Given the description of an element on the screen output the (x, y) to click on. 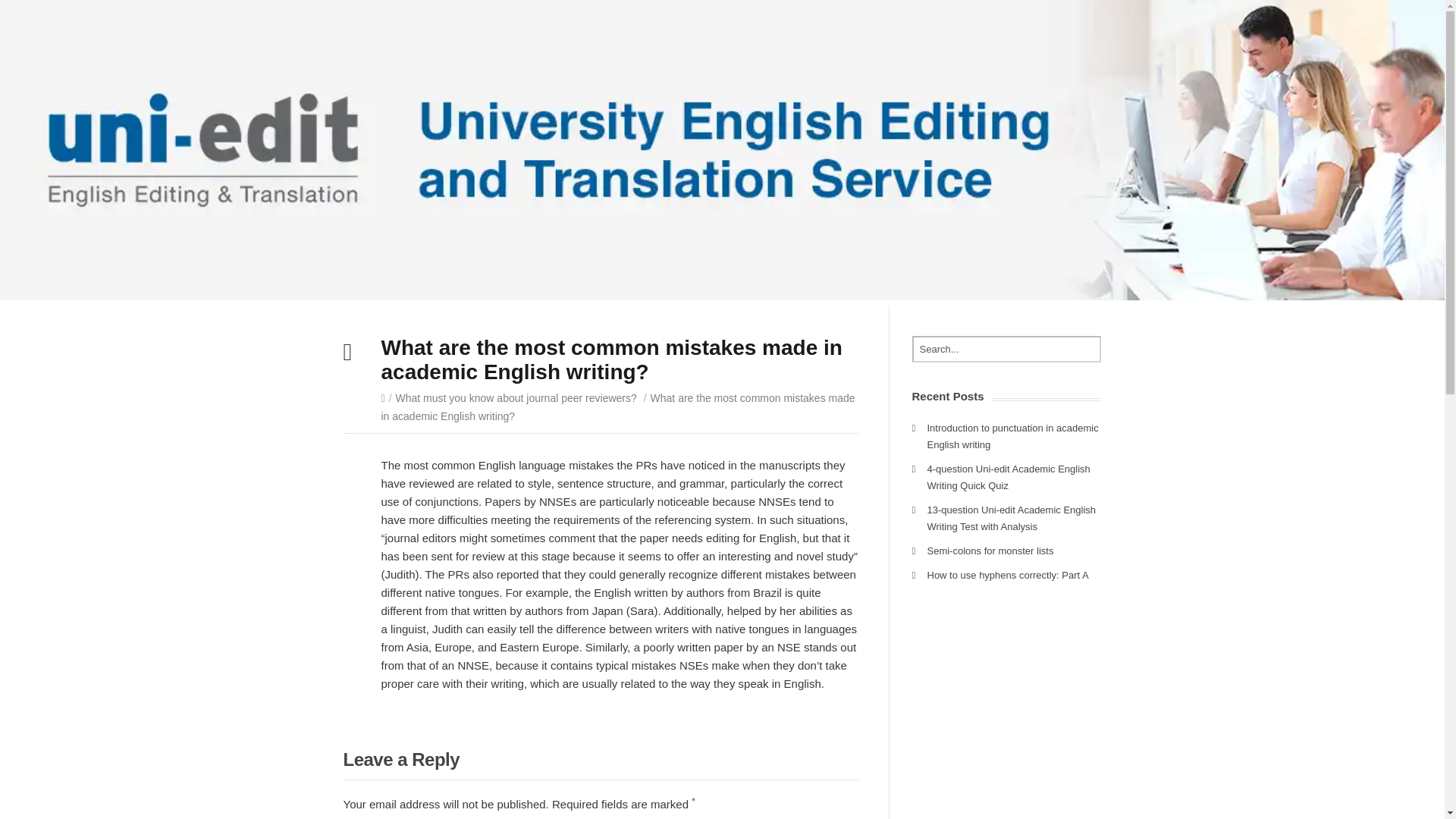
What must you know about journal peer reviewers? (516, 398)
Semi-colons for monster lists (989, 550)
Search... (1005, 348)
How to use hyphens correctly: Part A (1006, 574)
4-question Uni-edit Academic English Writing Quick Quiz (1007, 477)
Introduction to punctuation in academic English writing (1011, 436)
